Given the description of an element on the screen output the (x, y) to click on. 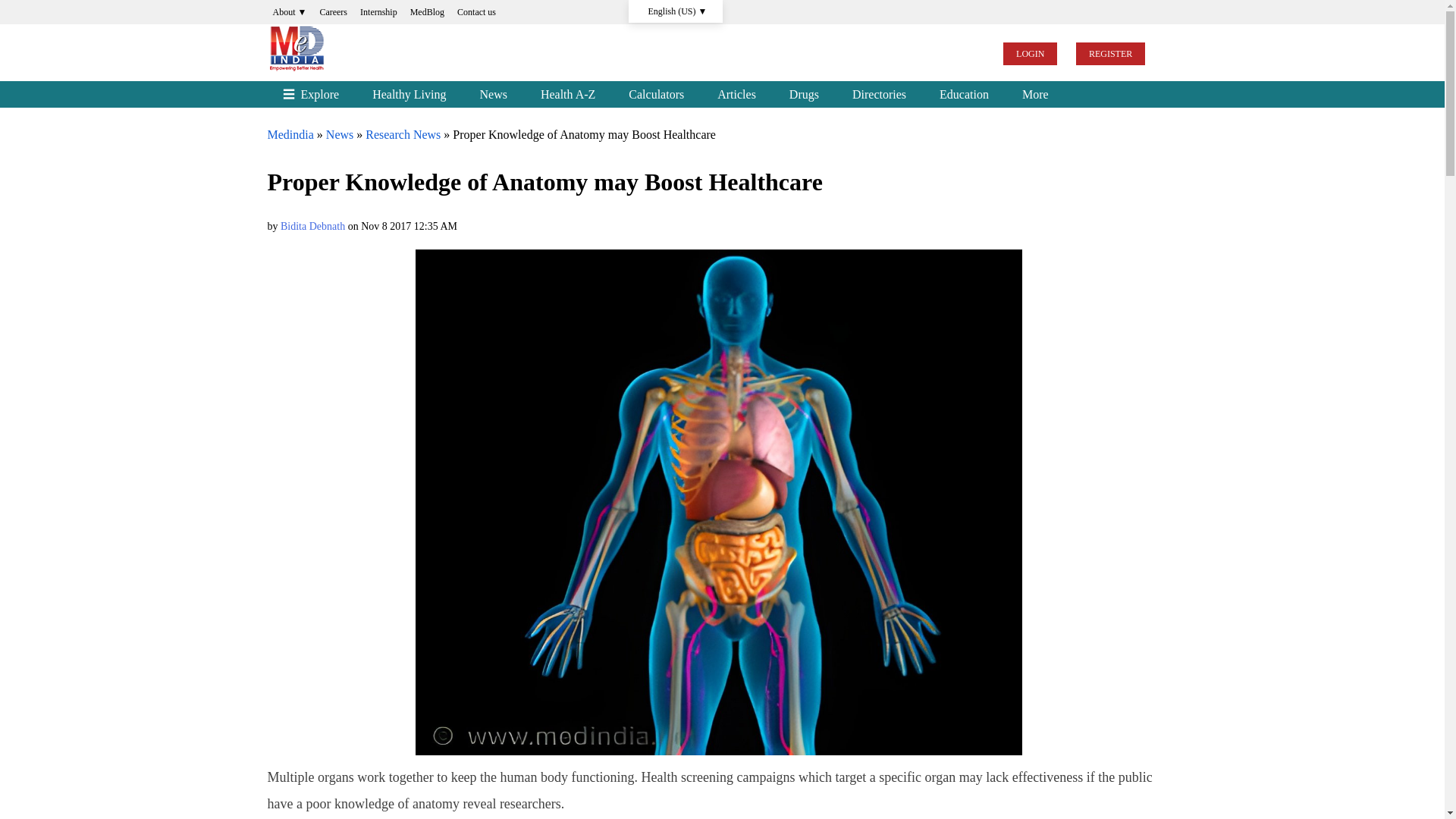
LOGIN (1030, 53)
Internship (379, 11)
Drugs (804, 93)
Health A-Z (567, 93)
Calculators (655, 93)
REGISTER (1109, 53)
MedBlog (426, 11)
Education (964, 93)
Directories (879, 93)
